Given the description of an element on the screen output the (x, y) to click on. 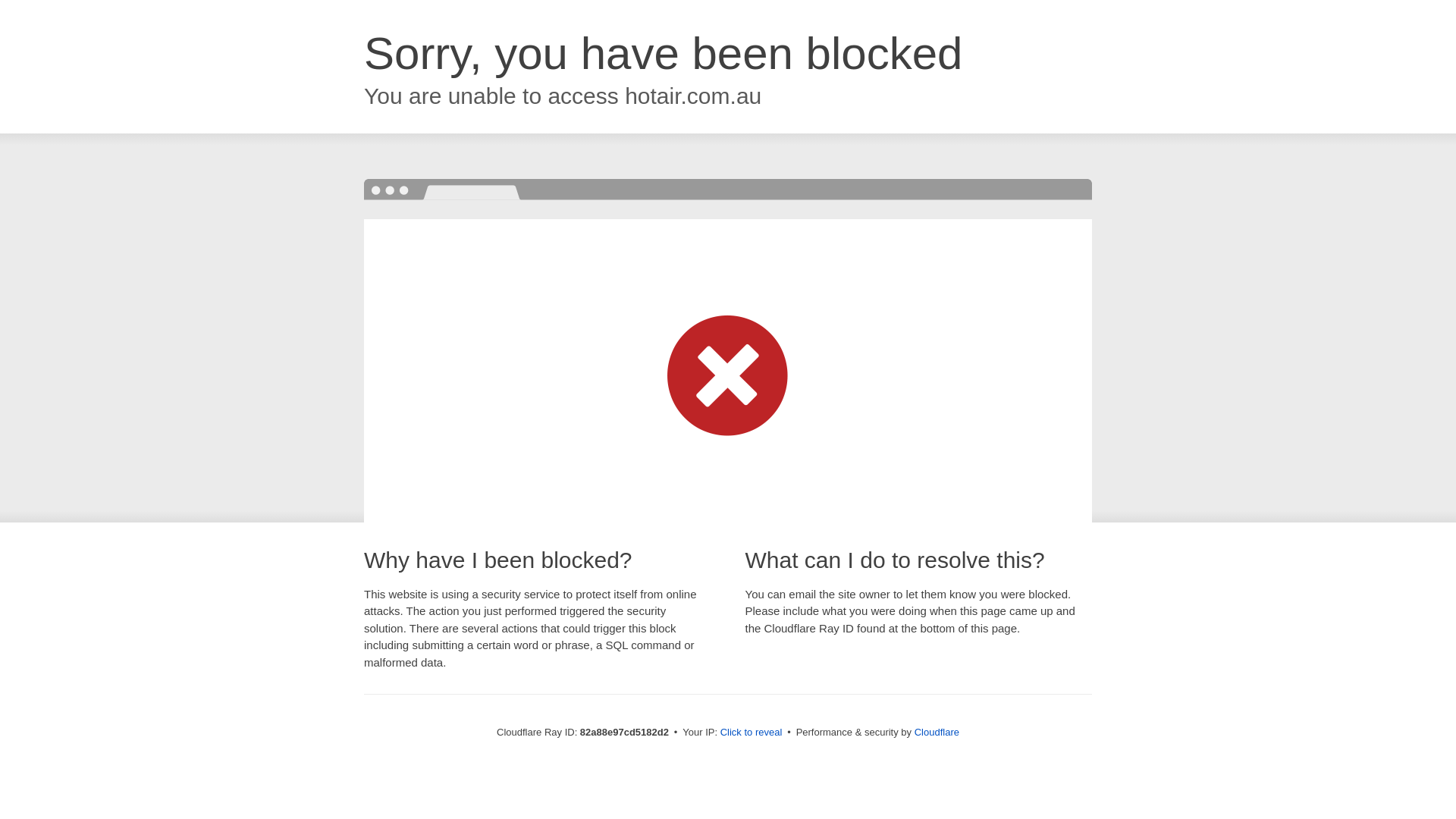
Cloudflare Element type: text (936, 731)
Click to reveal Element type: text (751, 732)
